Given the description of an element on the screen output the (x, y) to click on. 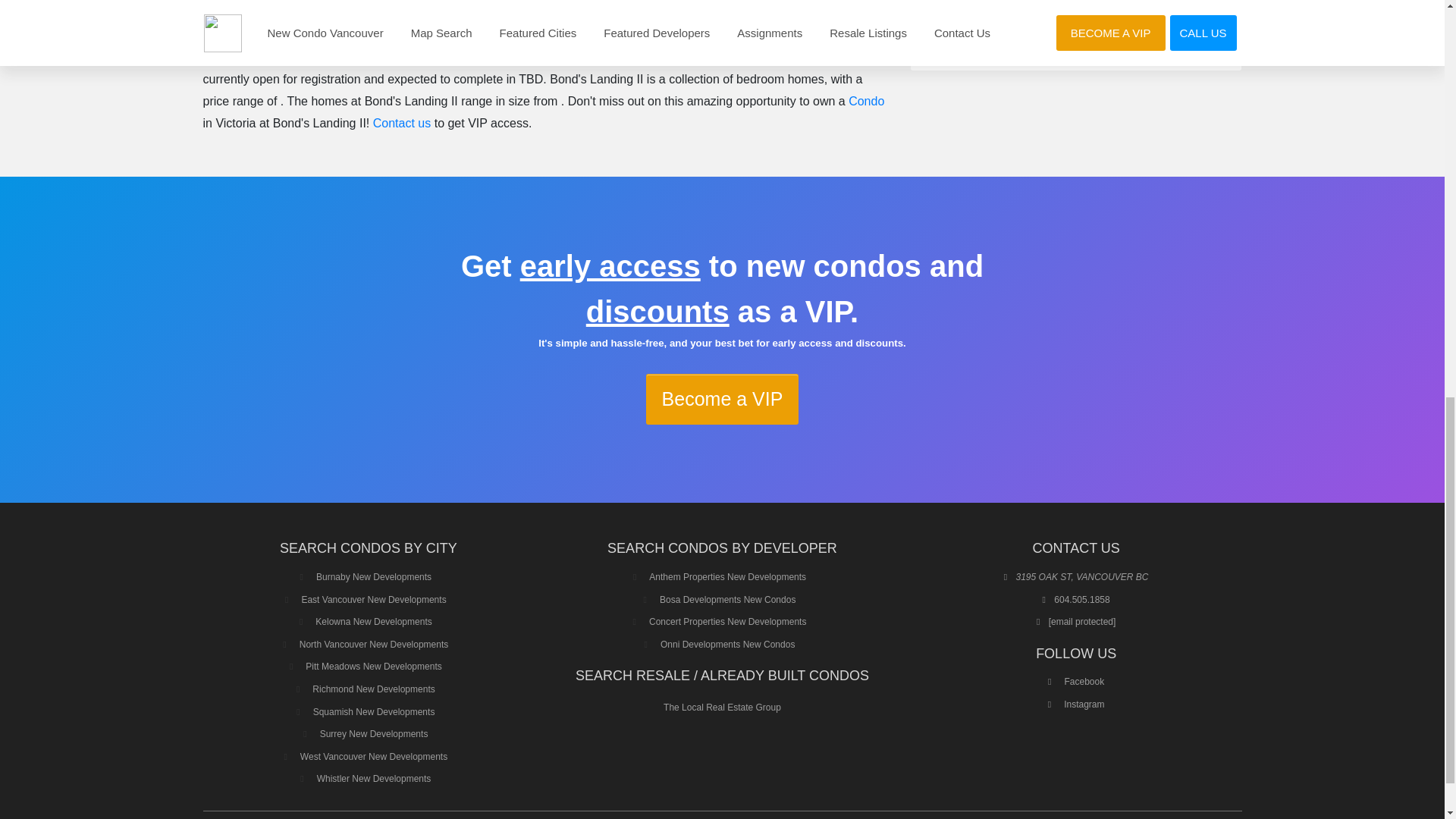
Become a VIP (722, 399)
Whistler New Developments (373, 778)
Anthem Properties New Developments (727, 576)
Contact us (401, 123)
Condo (581, 56)
Kelowna New Developments (372, 621)
Onni Developments New Condos (727, 644)
Instagram (1076, 704)
604.505.1858 (1081, 599)
Richmond New Developments (373, 688)
Condo (865, 101)
Facebook (1075, 681)
Concert Properties New Developments (727, 621)
The Local Real Estate Group (721, 706)
East Vancouver New Developments (373, 599)
